Given the description of an element on the screen output the (x, y) to click on. 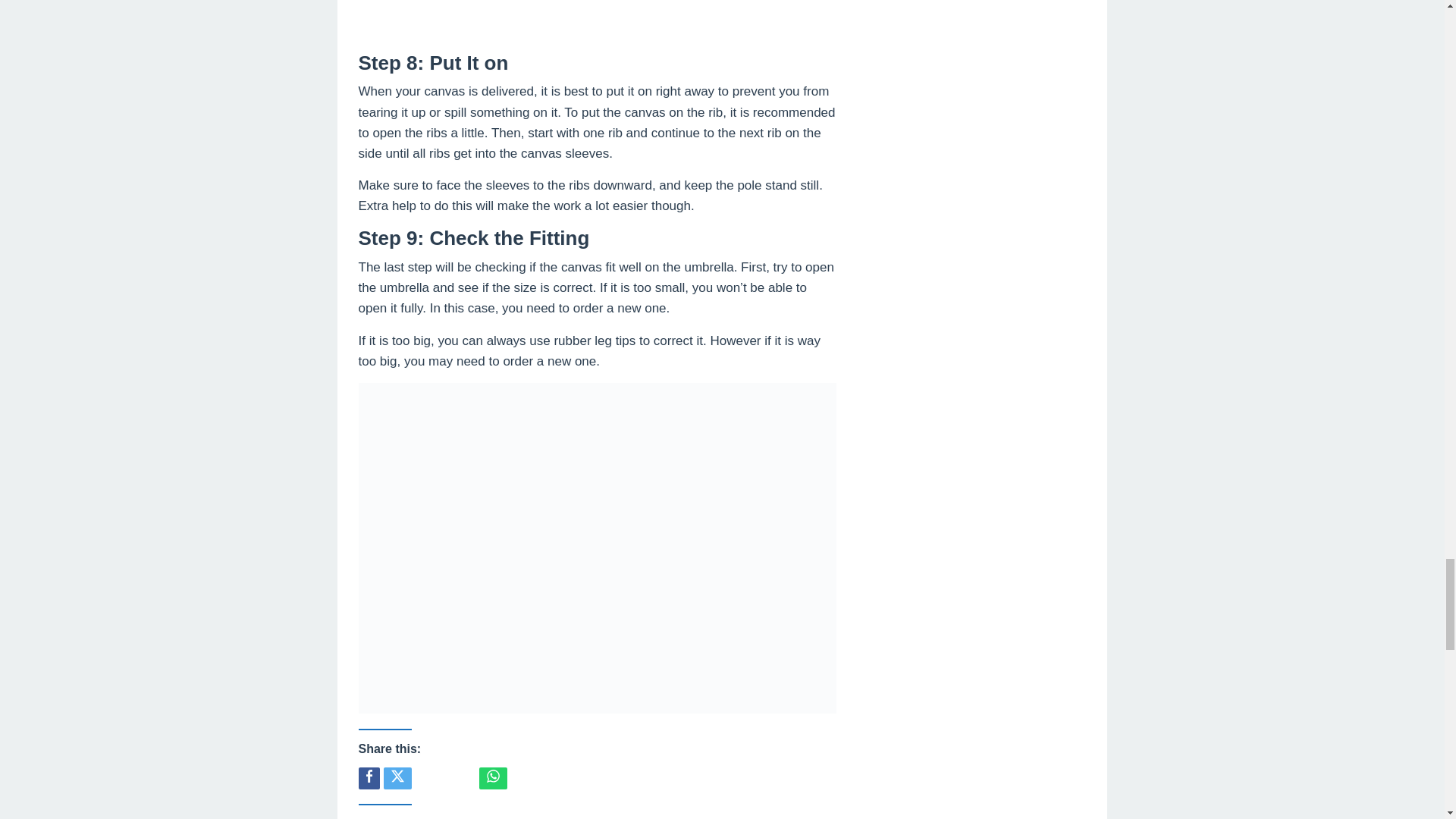
Telegram Share (461, 778)
Tweet this (398, 778)
Share this (368, 778)
Pin this (429, 778)
Whatsapp (492, 778)
